Given the description of an element on the screen output the (x, y) to click on. 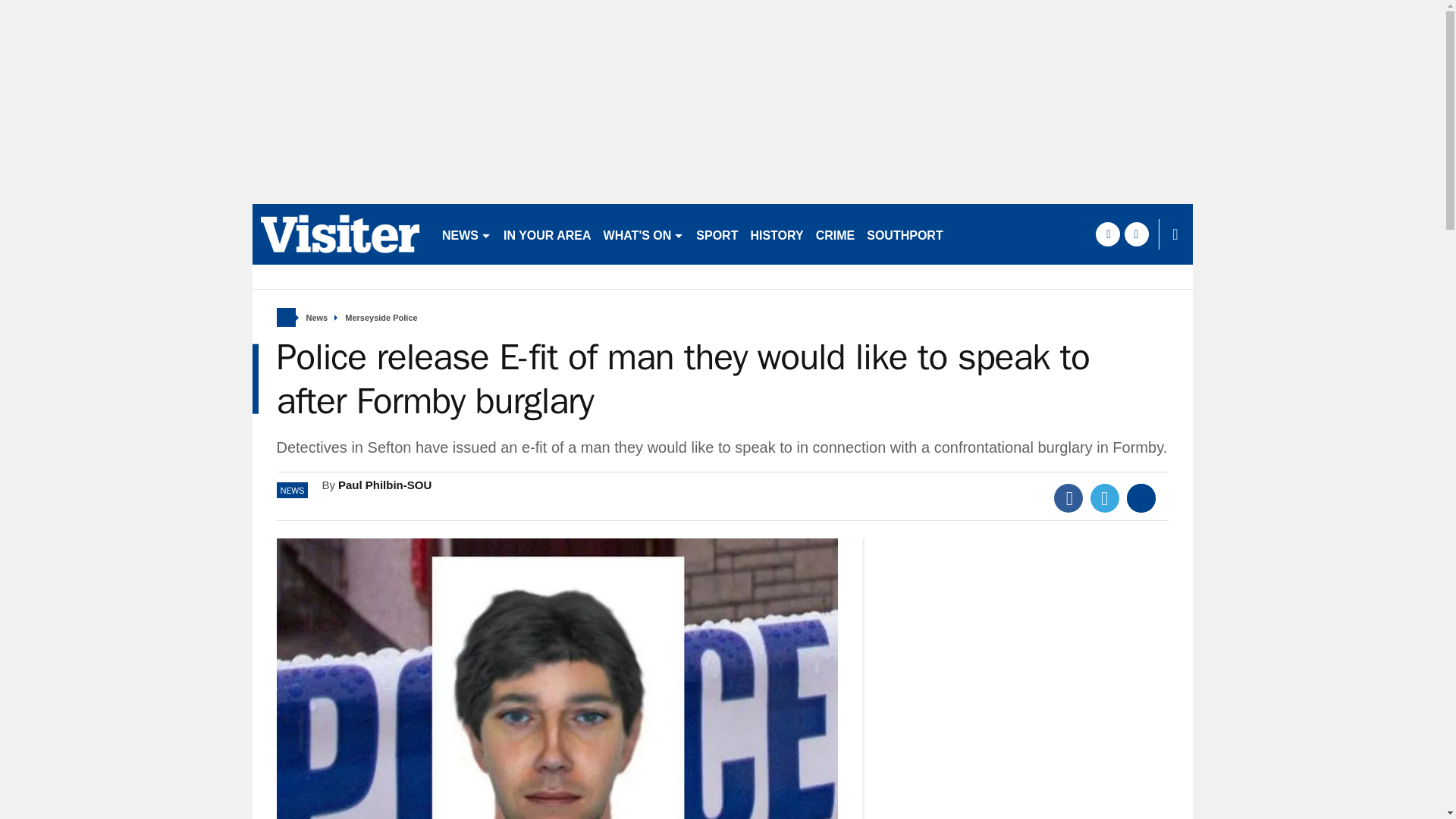
twitter (1136, 233)
IN YOUR AREA (546, 233)
Twitter (1104, 498)
southportvisiter (339, 233)
facebook (1106, 233)
WHAT'S ON (643, 233)
SOUTHPORT FC (914, 233)
HISTORY (776, 233)
NEWS (466, 233)
Facebook (1068, 498)
